Given the description of an element on the screen output the (x, y) to click on. 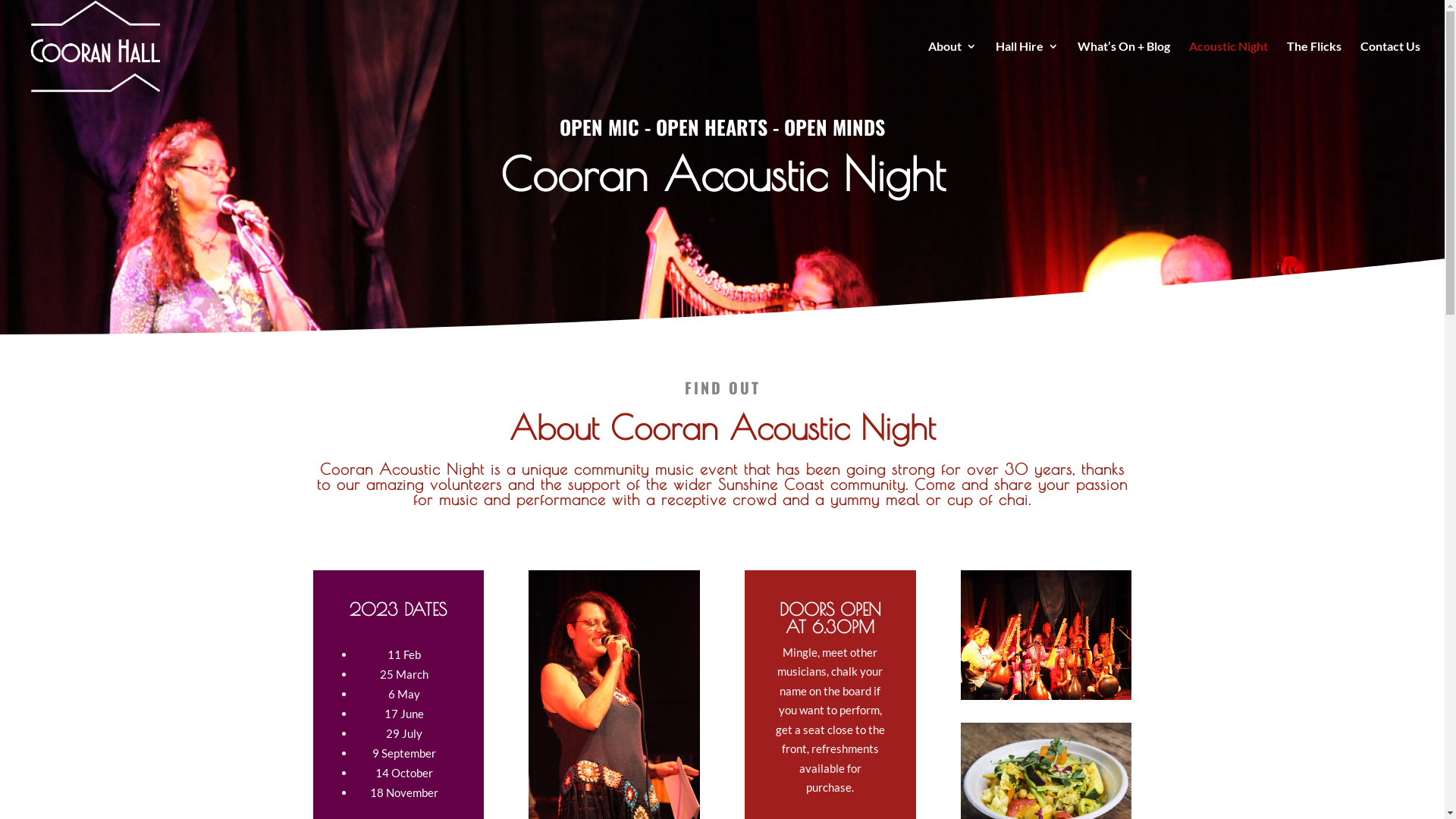
Acoustic Night Element type: text (1228, 66)
Hall Hire Element type: text (1026, 66)
The Flicks Element type: text (1313, 66)
Contact Us Element type: text (1390, 66)
About Element type: text (952, 66)
